Given the description of an element on the screen output the (x, y) to click on. 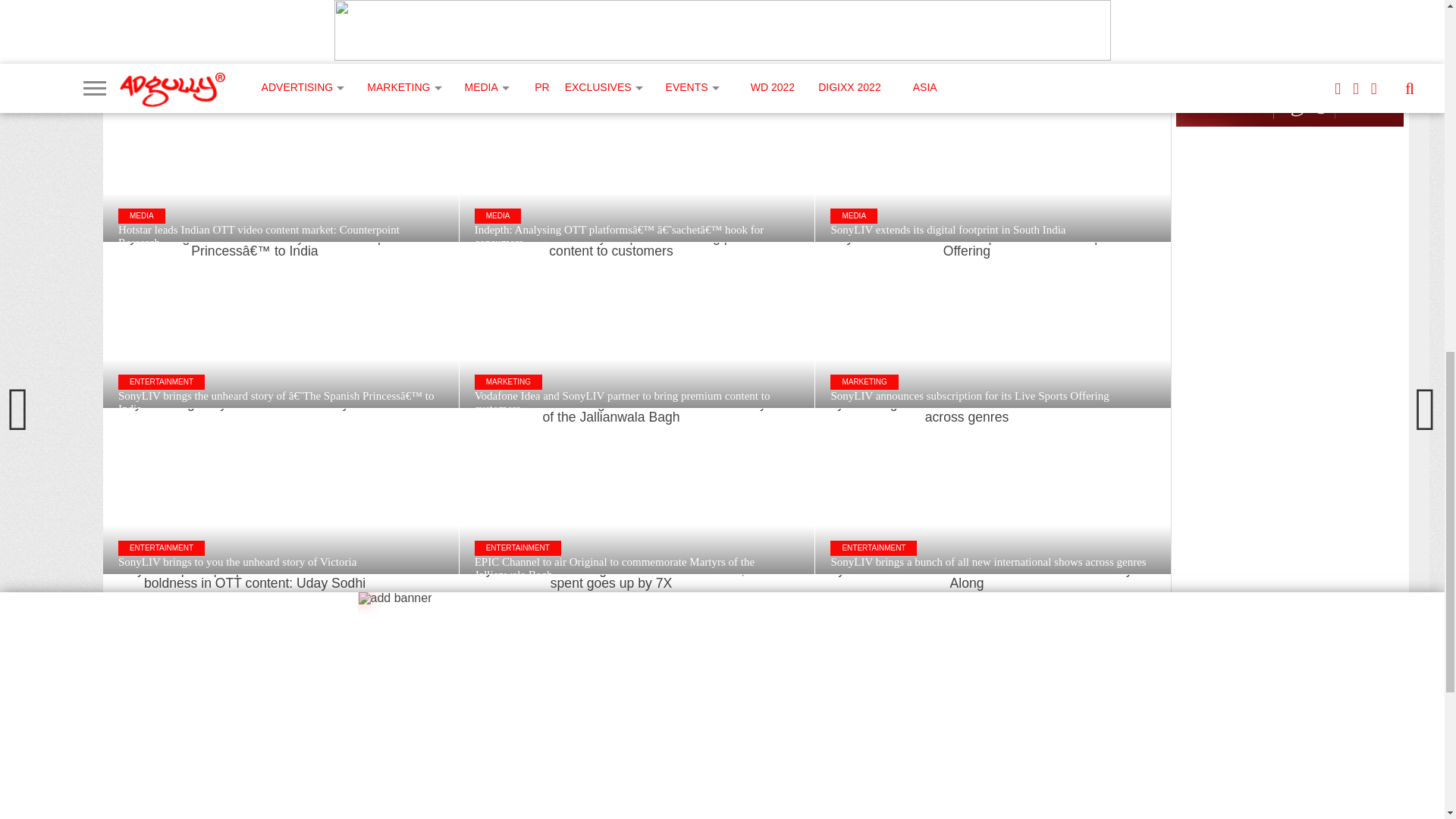
Zee TV (671, 815)
Media (504, 815)
Marketing (560, 815)
Television (729, 815)
Colors (621, 815)
